Given the description of an element on the screen output the (x, y) to click on. 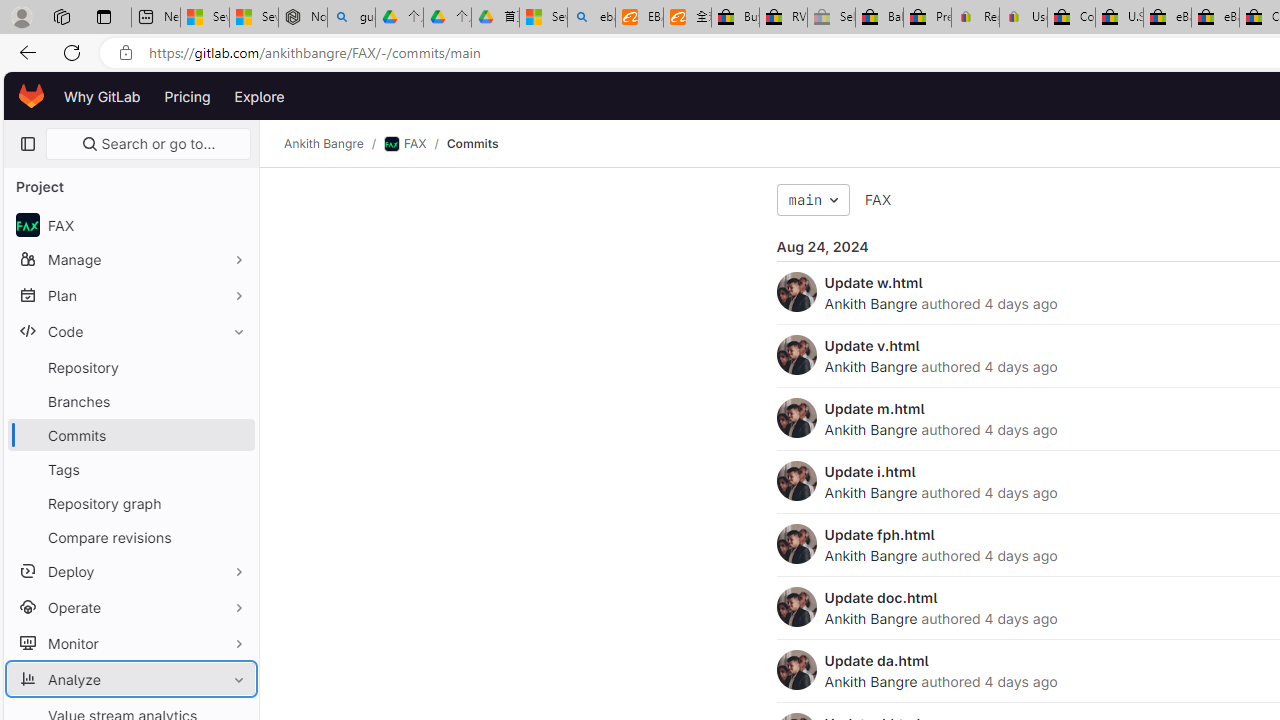
Manage (130, 259)
Deploy (130, 570)
Explore (259, 95)
Update w.html (873, 282)
eBay Inc. Reports Third Quarter 2023 Results (1215, 17)
Repository graph (130, 502)
Pricing (187, 95)
Pricing (187, 95)
Code (130, 331)
Why GitLab (102, 95)
U.S. State Privacy Disclosures - eBay Inc. (1119, 17)
Commits (472, 143)
